Given the description of an element on the screen output the (x, y) to click on. 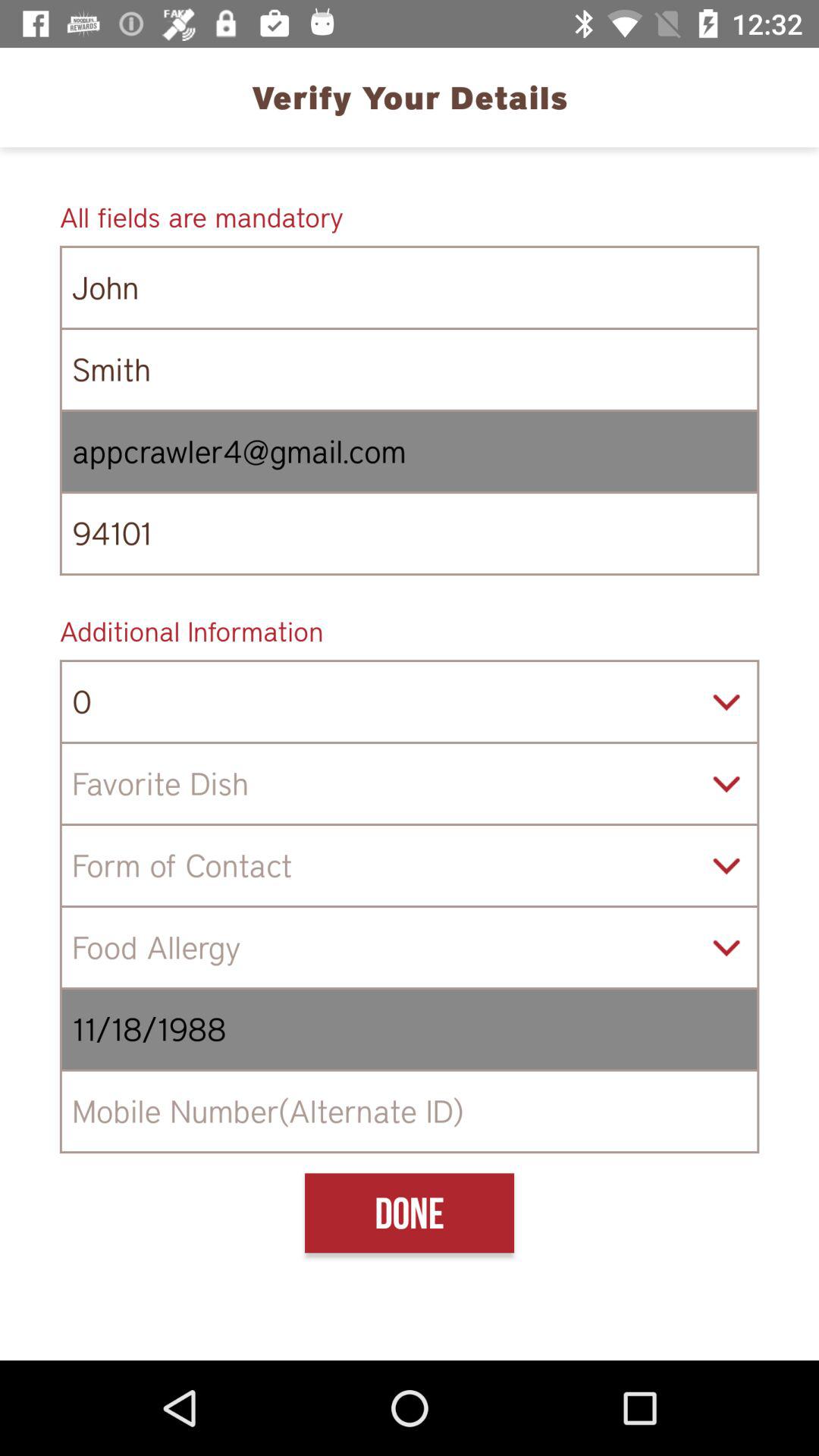
jump to 94101 item (409, 533)
